Given the description of an element on the screen output the (x, y) to click on. 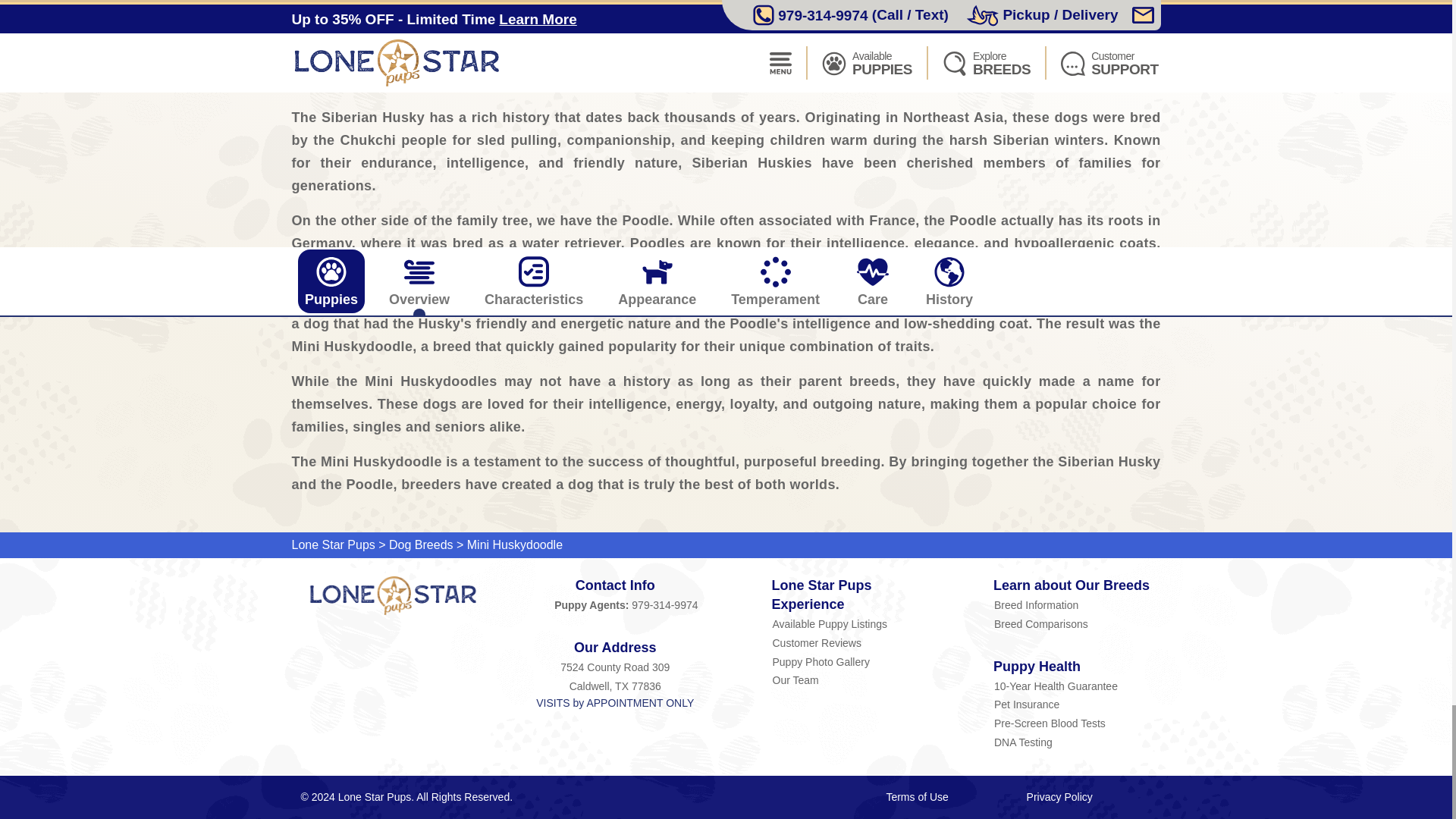
Pet Insurance (1076, 704)
Lone Star Pups (332, 544)
Breed Information (1076, 605)
7524 County Road 309 (615, 667)
10-Year Health Guarantee (1076, 686)
Puppy Photo Gallery (855, 661)
DNA Testing (1076, 742)
Dog Breeds (420, 544)
Customer Reviews (855, 642)
Our Team (855, 679)
Puppy Agents: 979-314-9974 (615, 605)
Available Puppy Listings (855, 624)
Lone Star Pups (393, 595)
Privacy Policy (1059, 797)
Caldwell, TX 77836 (615, 686)
